Given the description of an element on the screen output the (x, y) to click on. 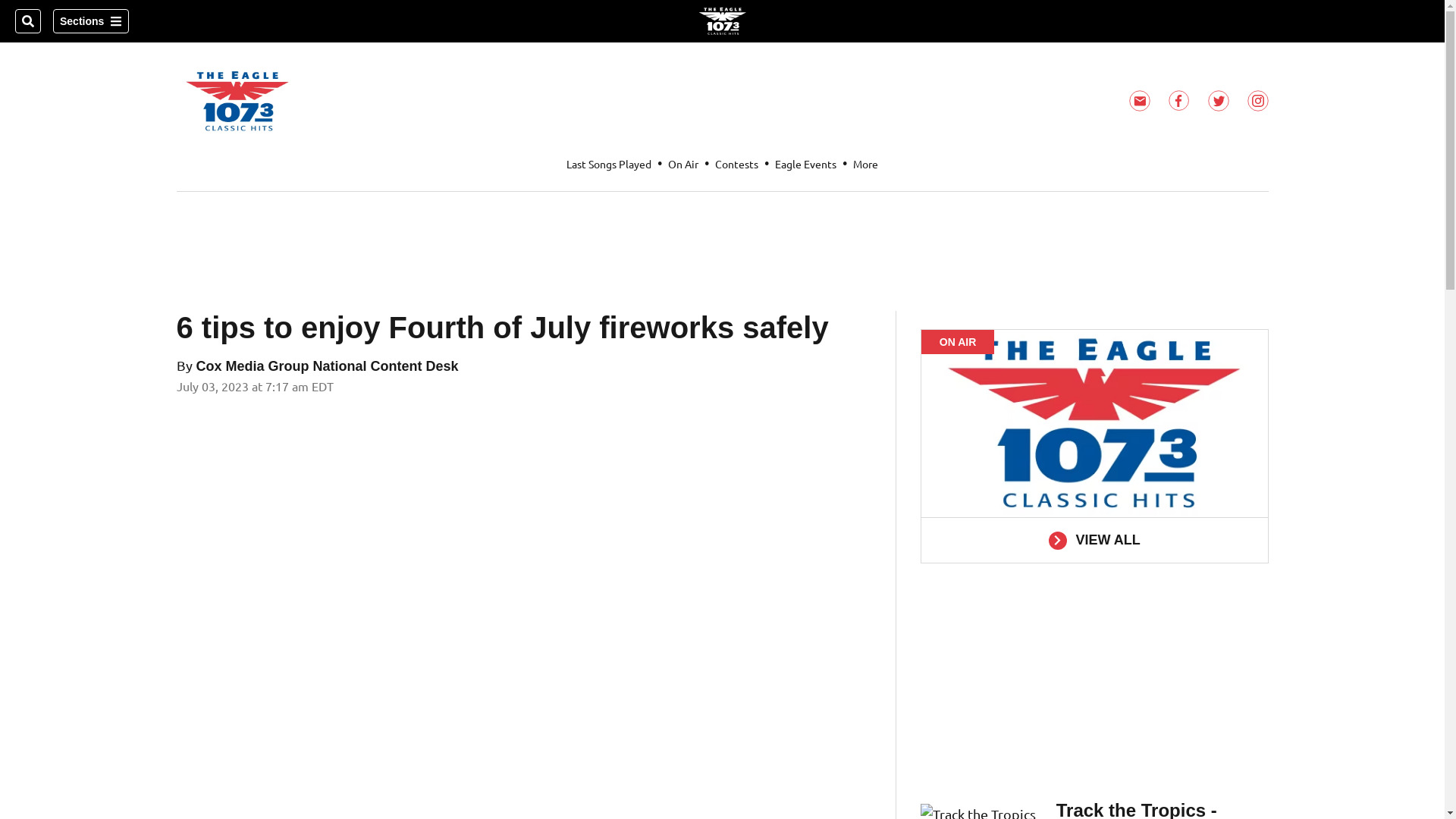
More Element type: text (865, 163)
107.3 The Eagle facebook feed(Opens a new window) Element type: text (1178, 100)
Eagle Events Element type: text (805, 163)
Contests Element type: text (736, 163)
Last Songs Played Element type: text (608, 163)
Subscribe to 107.3 The Eagle newsletter(Opens a new window) Element type: text (1138, 100)
VIEW ALL Element type: text (1094, 539)
107.3 The Eagle instagram feed(Opens a new window) Element type: text (1256, 100)
On Air Element type: text (683, 163)
Sections Element type: text (90, 21)
107.3 The Eagle twitter feed(Opens a new window) Element type: text (1217, 100)
107.3 The Eagle Element type: hover (721, 21)
